Given the description of an element on the screen output the (x, y) to click on. 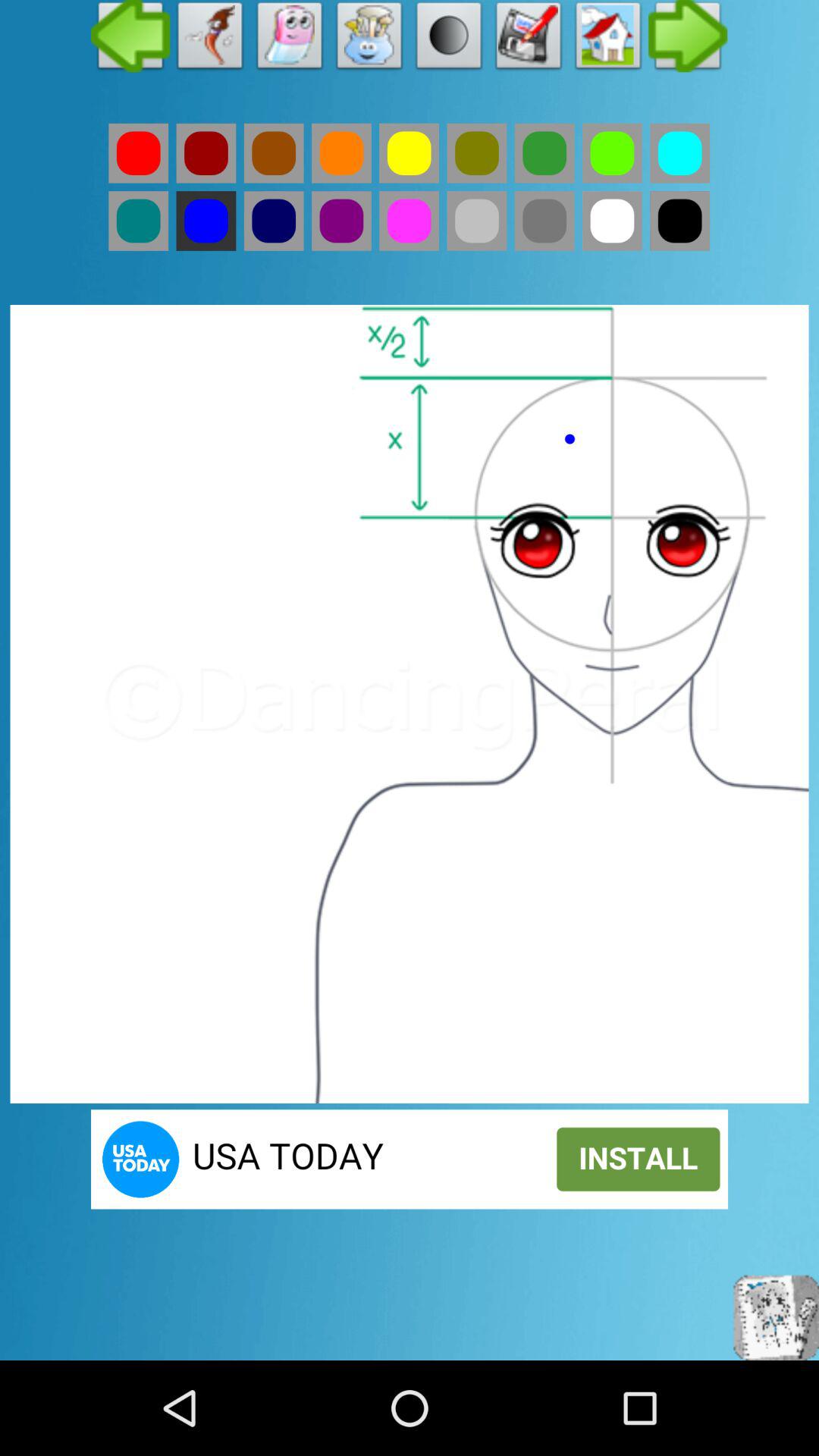
colour option (206, 220)
